Given the description of an element on the screen output the (x, y) to click on. 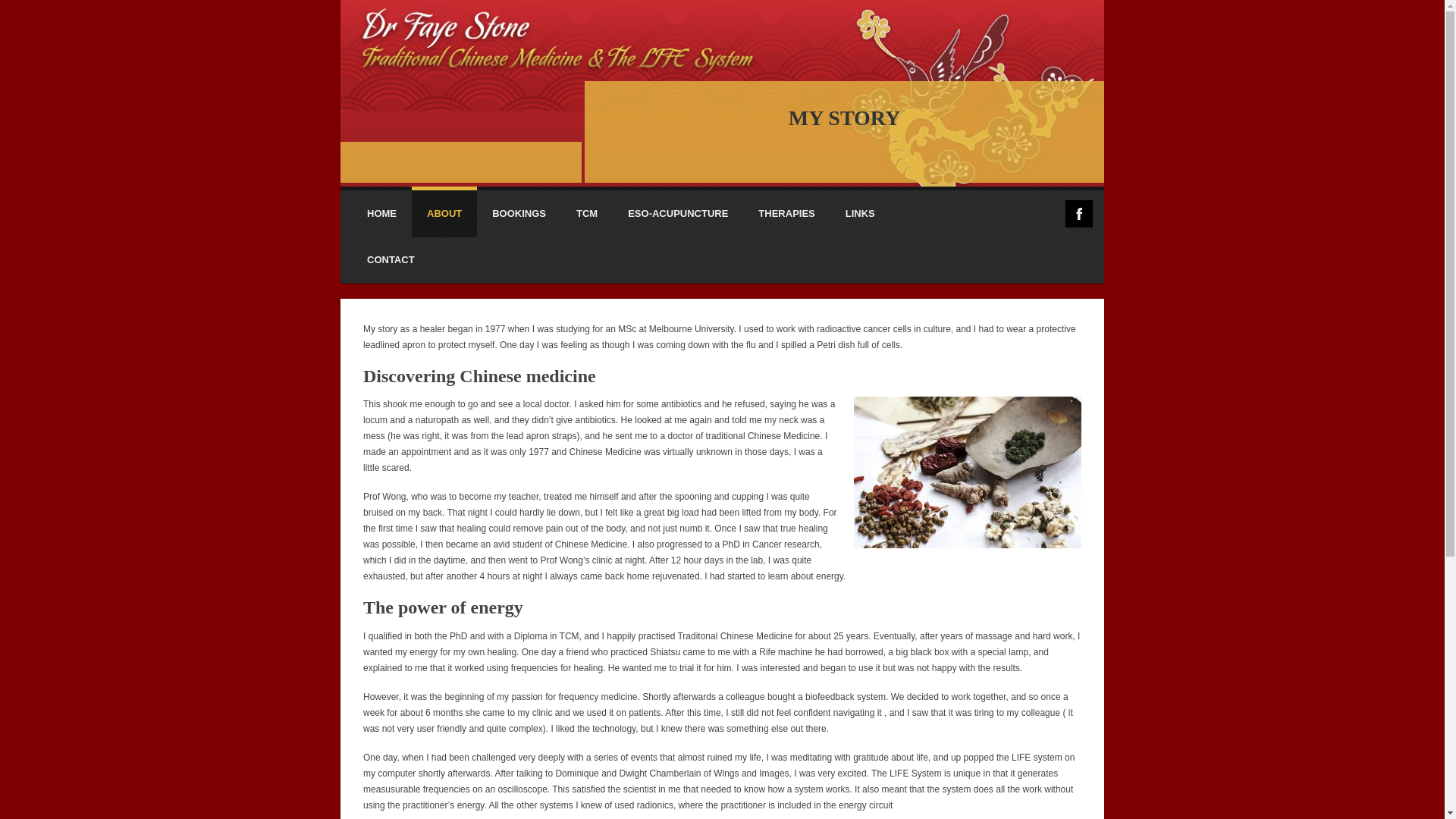
ABOUT Element type: text (443, 213)
ESO-ACUPUNCTURE Element type: text (677, 213)
CONTACT Element type: text (390, 259)
Follow us on Facebook Element type: hover (1078, 213)
HOME Element type: text (381, 213)
THERAPIES Element type: text (786, 213)
LINKS Element type: text (860, 213)
BOOKINGS Element type: text (518, 213)
TCM Element type: text (586, 213)
